Given the description of an element on the screen output the (x, y) to click on. 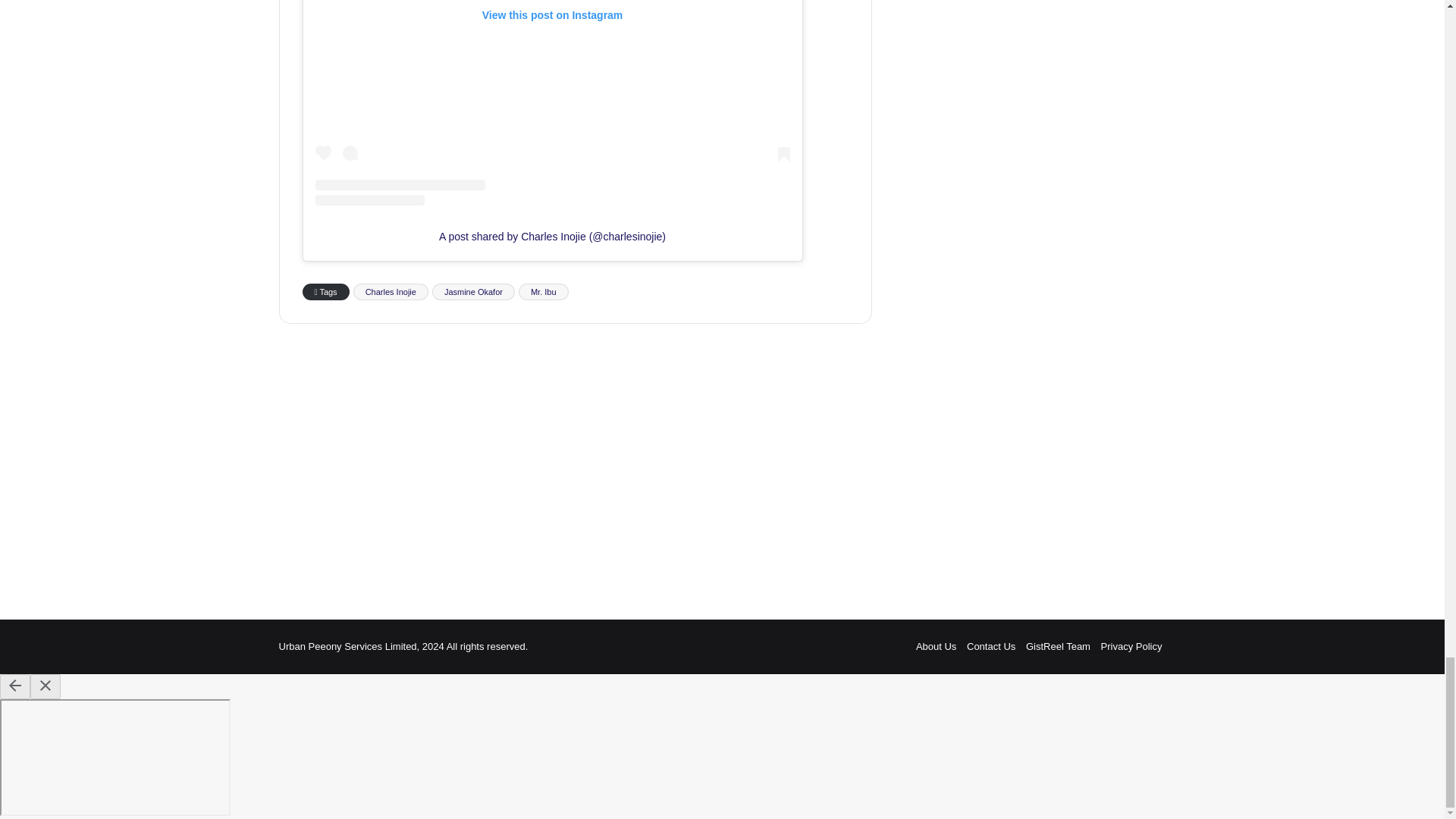
GistReel Team (1058, 645)
About Us (935, 645)
Charles Inojie (390, 291)
Privacy Policy (1130, 645)
Jasmine Okafor (473, 291)
Contact Us (990, 645)
View this post on Instagram (552, 102)
Mr. Ibu (543, 291)
